Given the description of an element on the screen output the (x, y) to click on. 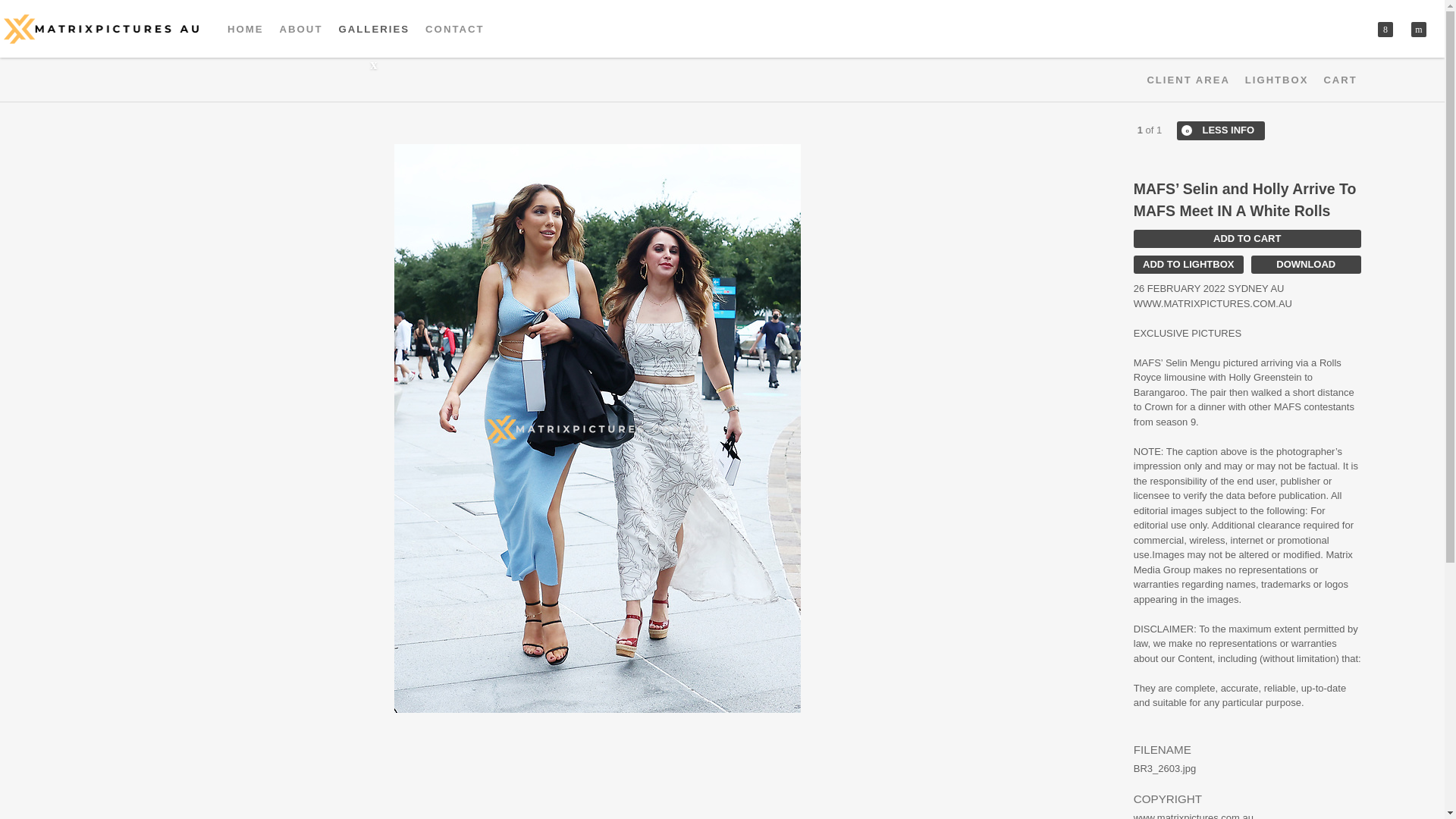
Info (1220, 130)
DOWNLOAD (1305, 264)
GALLERIES (373, 28)
ADD TO LIGHTBOX (1188, 264)
LIGHTBOX (1276, 80)
Add to Cart (1247, 239)
CONTACT (455, 28)
x (1385, 29)
Share This (1385, 29)
CLIENT AREA (1187, 80)
